Given the description of an element on the screen output the (x, y) to click on. 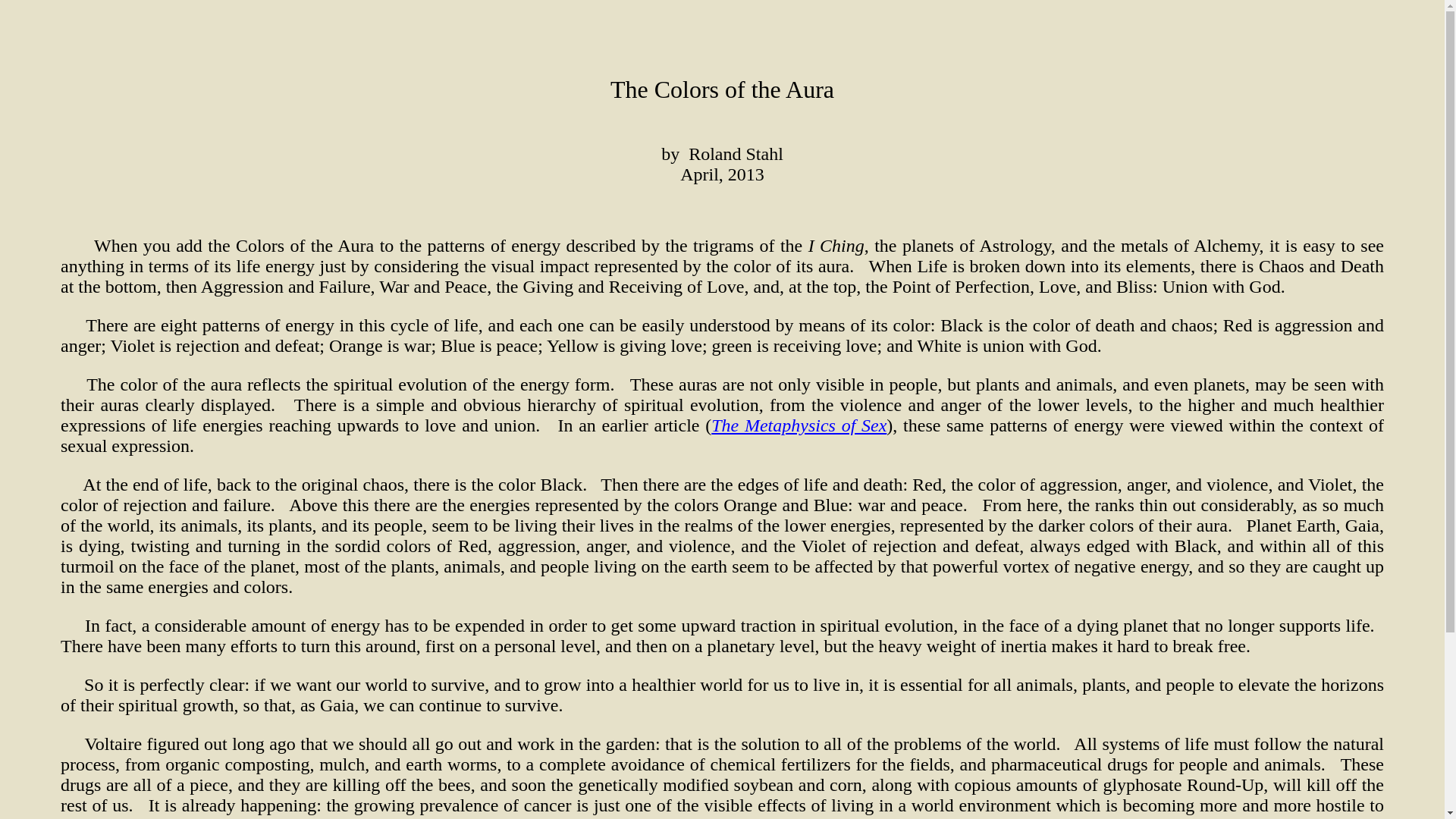
The Metaphysics of Sex (798, 424)
